Given the description of an element on the screen output the (x, y) to click on. 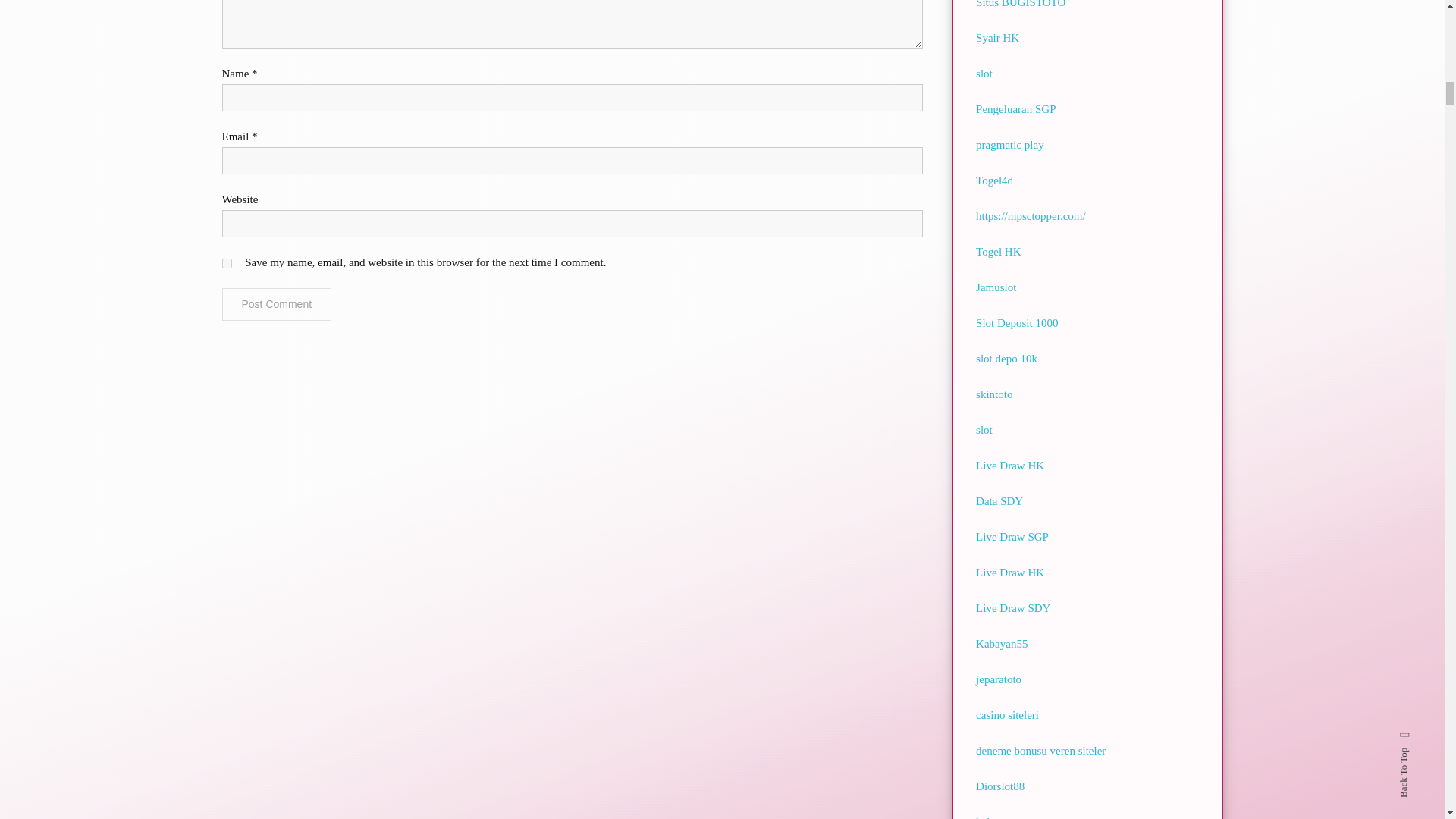
Post Comment (276, 304)
yes (226, 263)
Post Comment (276, 304)
